Given the description of an element on the screen output the (x, y) to click on. 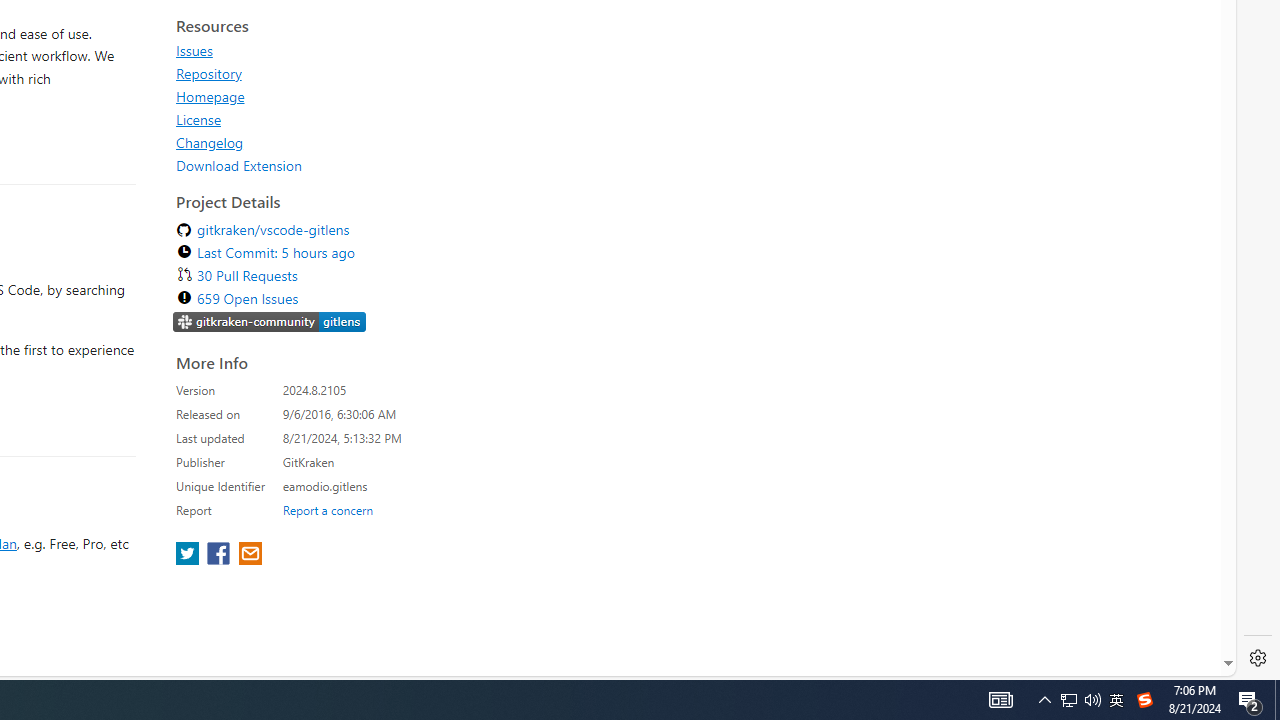
Homepage (358, 96)
Issues (358, 50)
https://slack.gitkraken.com// (269, 321)
Repository (358, 73)
https://slack.gitkraken.com// (269, 323)
Changelog (210, 142)
Issues (194, 50)
License (198, 119)
Repository (208, 73)
